Given the description of an element on the screen output the (x, y) to click on. 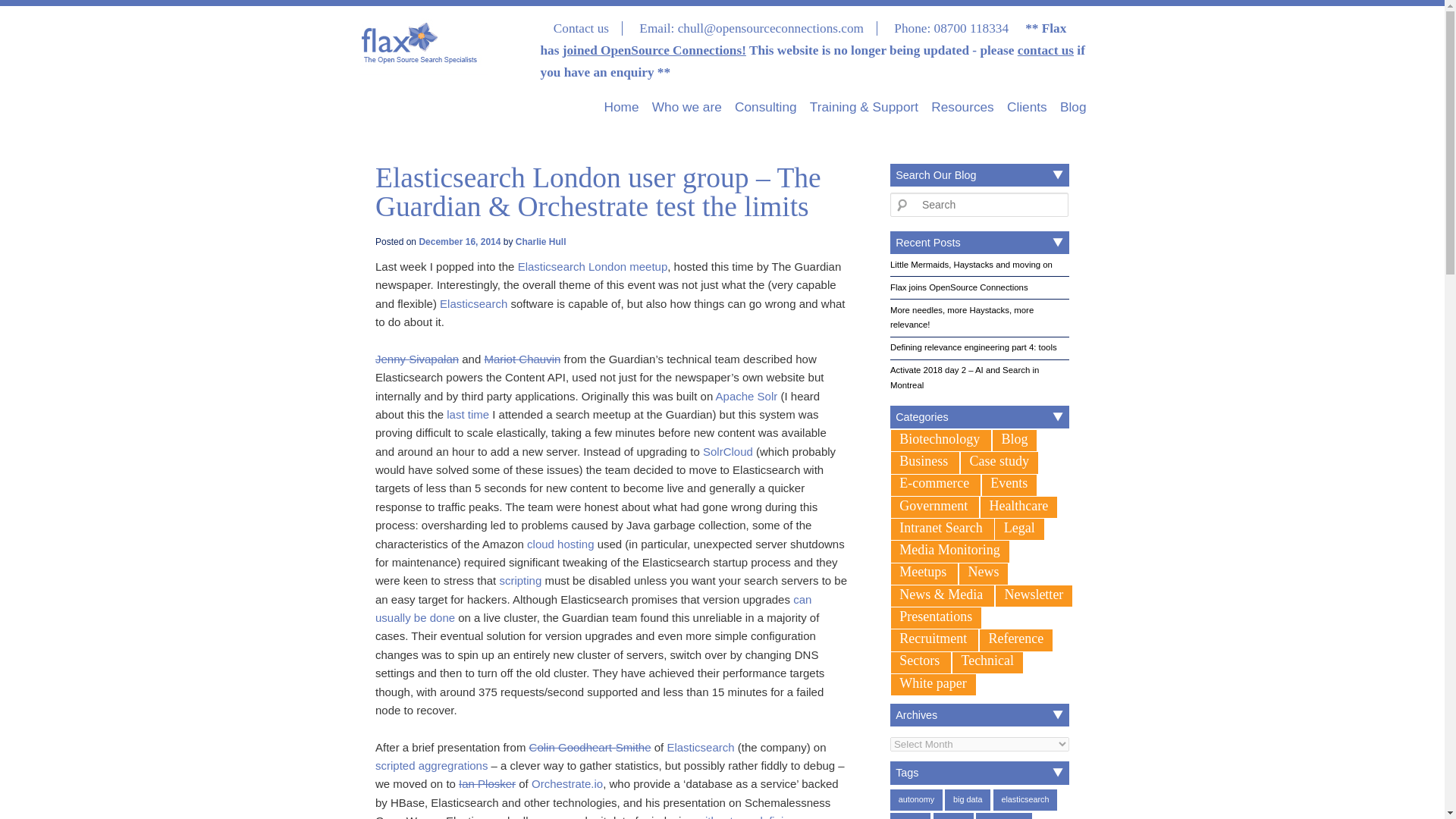
Media monitoring solutions from Flax (949, 549)
joined OpenSource Connections! (653, 50)
Home (621, 106)
contact us (1045, 50)
View all posts by Charlie Hull (540, 241)
Who we are (687, 106)
Consulting (765, 106)
Skip to primary content (657, 93)
Contact us (580, 28)
08700 118334 (969, 28)
2:22 pm (459, 241)
